Given the description of an element on the screen output the (x, y) to click on. 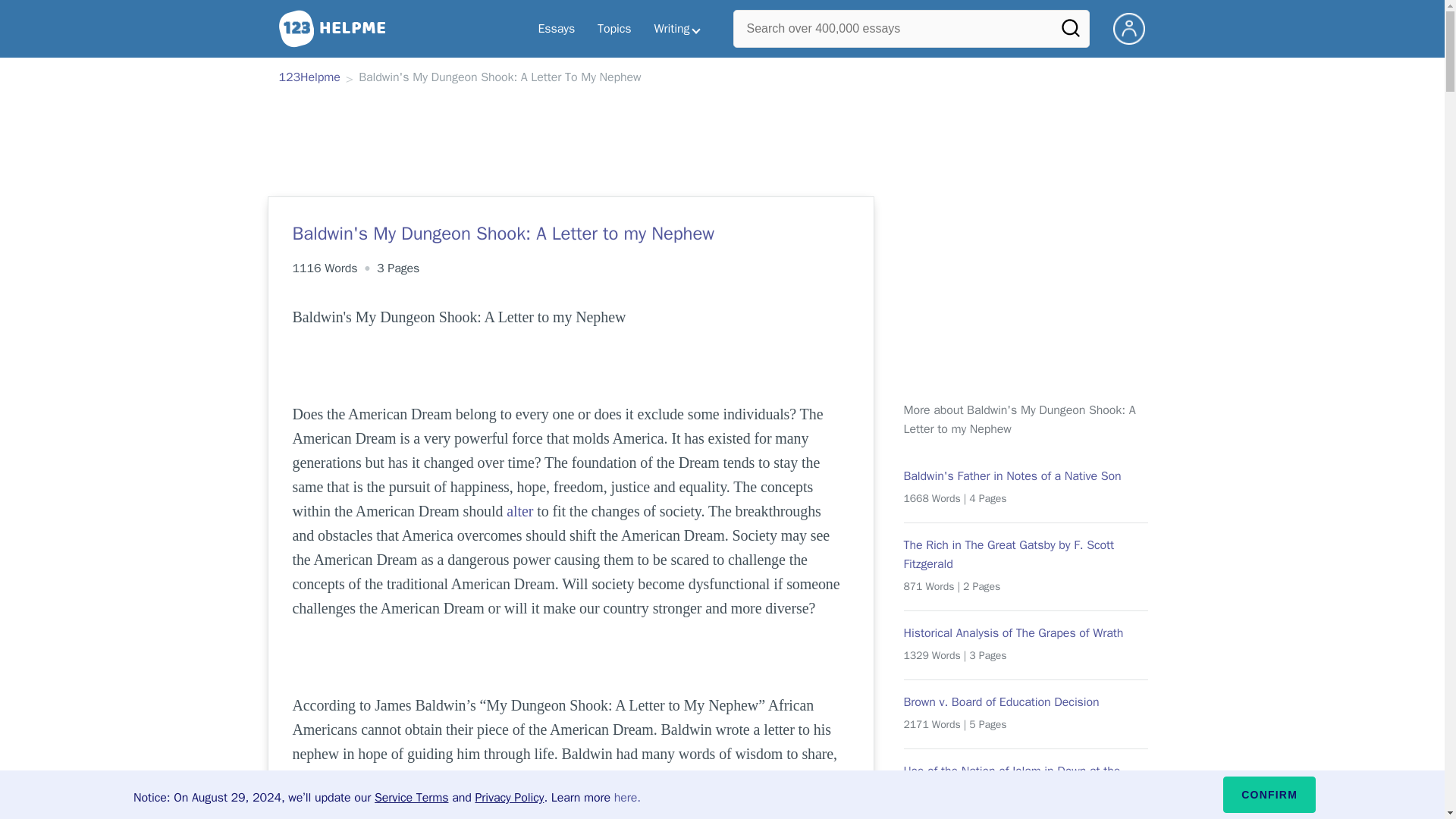
Topics (614, 28)
123Helpme (309, 78)
Writing (677, 28)
alter (519, 510)
Essays (555, 28)
